Given the description of an element on the screen output the (x, y) to click on. 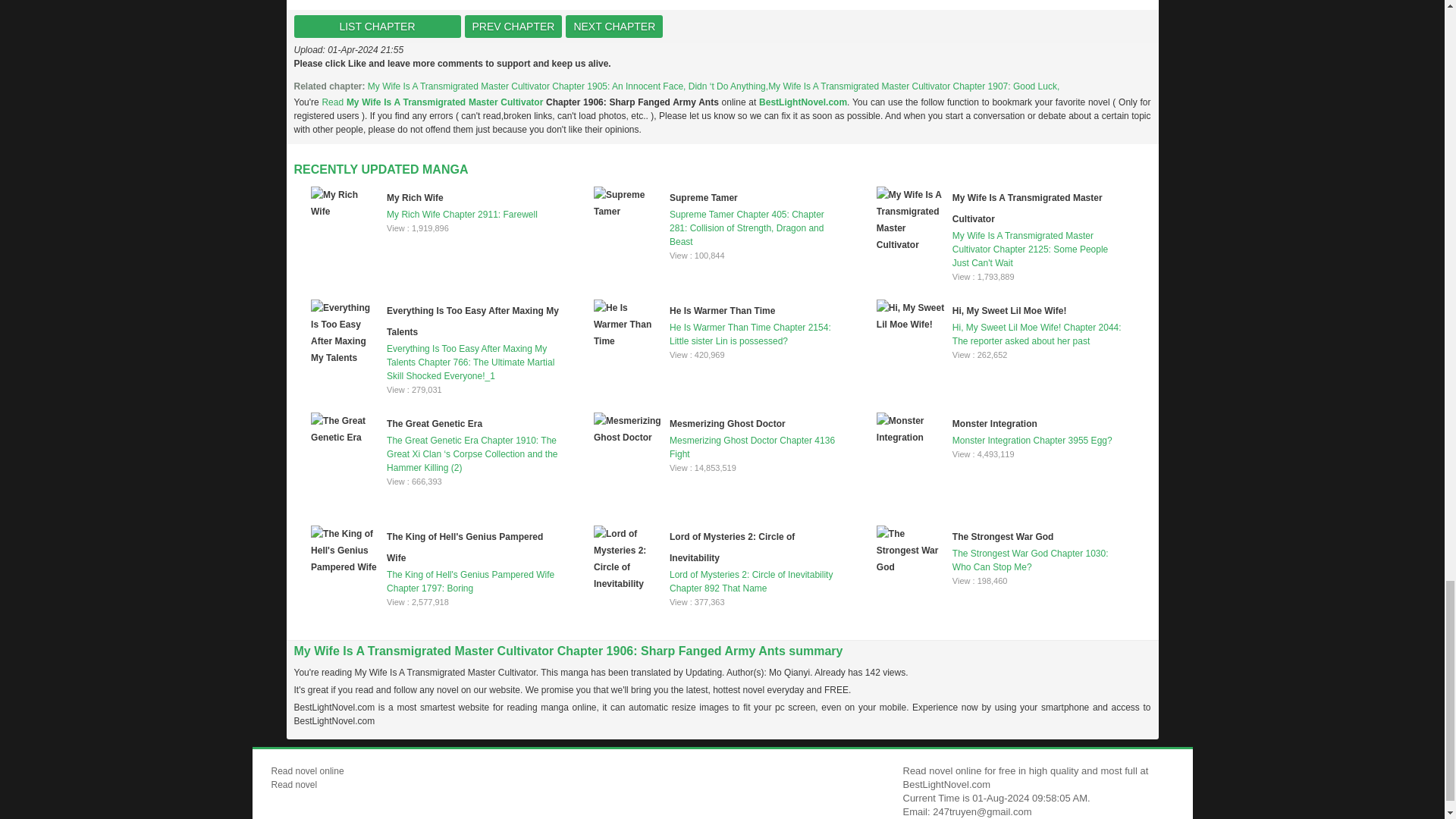
Supreme Tamer (703, 197)
Everything Is Too Easy After Maxing My Talents (473, 321)
PREV CHAPTER (513, 26)
My Wife Is A Transmigrated Master Cultivator (1027, 208)
Read My Wife Is A Transmigrated Master Cultivator (433, 102)
Read My Wife Is A Transmigrated Master Cultivator novel (433, 102)
My Rich Wife Chapter 2911: Farewell (435, 203)
My Rich Wife Chapter 2911: Farewell (435, 203)
My Rich Wife (415, 197)
My Rich Wife (415, 197)
NEXT CHAPTER (614, 26)
